Given the description of an element on the screen output the (x, y) to click on. 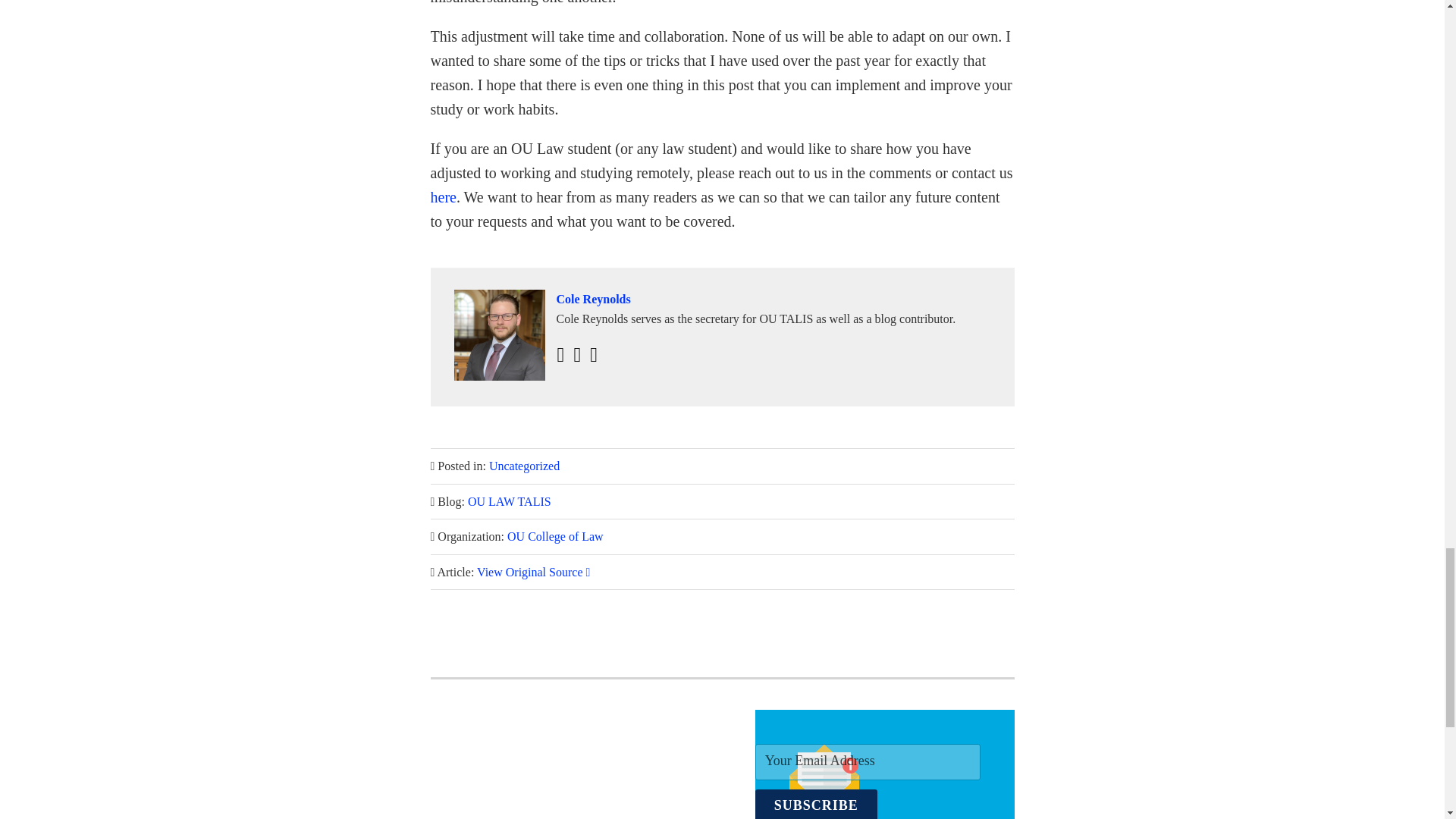
here (443, 197)
Cole Reynolds (721, 299)
SUBSCRIBE (816, 804)
Uncategorized (524, 465)
SUBSCRIBE (816, 804)
View Original Source (533, 571)
OU LAW TALIS (509, 501)
OU College of Law (555, 535)
Cole's Twitter Profile (576, 354)
Cole's Facebook Profile (592, 354)
Cole's Linkedin Profile (560, 354)
